Given the description of an element on the screen output the (x, y) to click on. 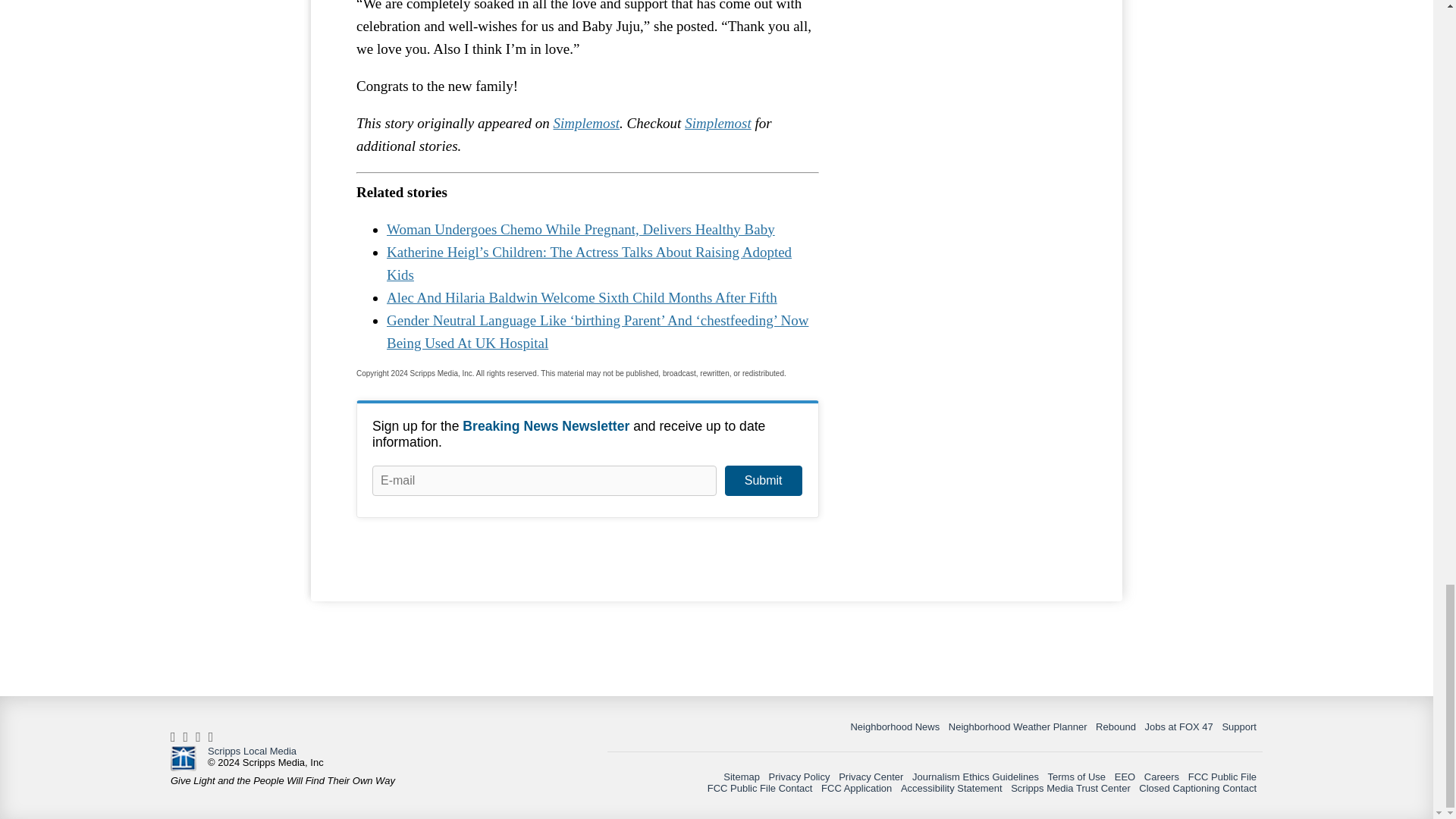
Submit (763, 481)
